Given the description of an element on the screen output the (x, y) to click on. 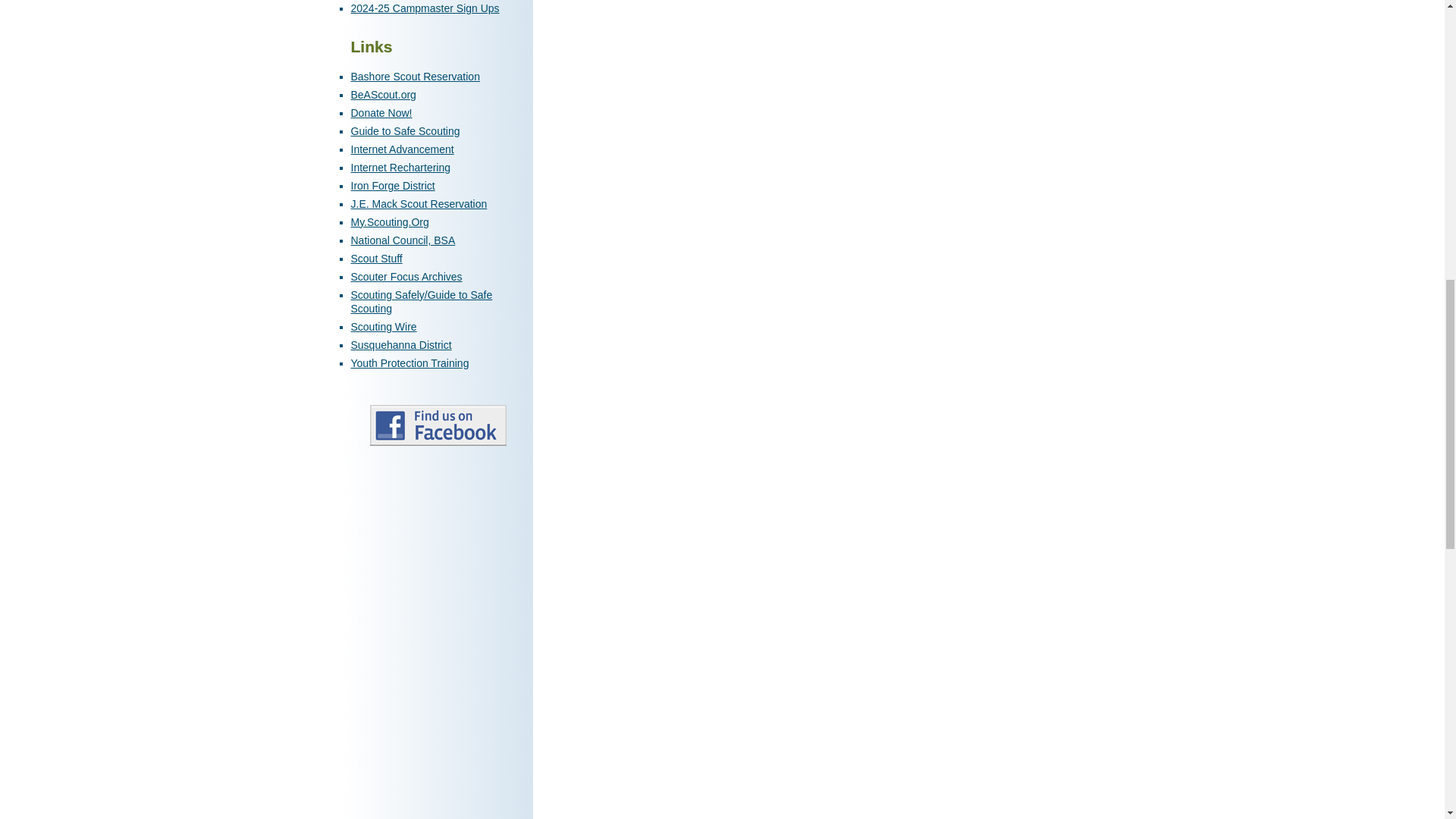
BeAScout Portal (382, 94)
Support Scouting in PA Dutch Council-Donate Now! (381, 112)
MyScouting Tools Portal (389, 222)
